Given the description of an element on the screen output the (x, y) to click on. 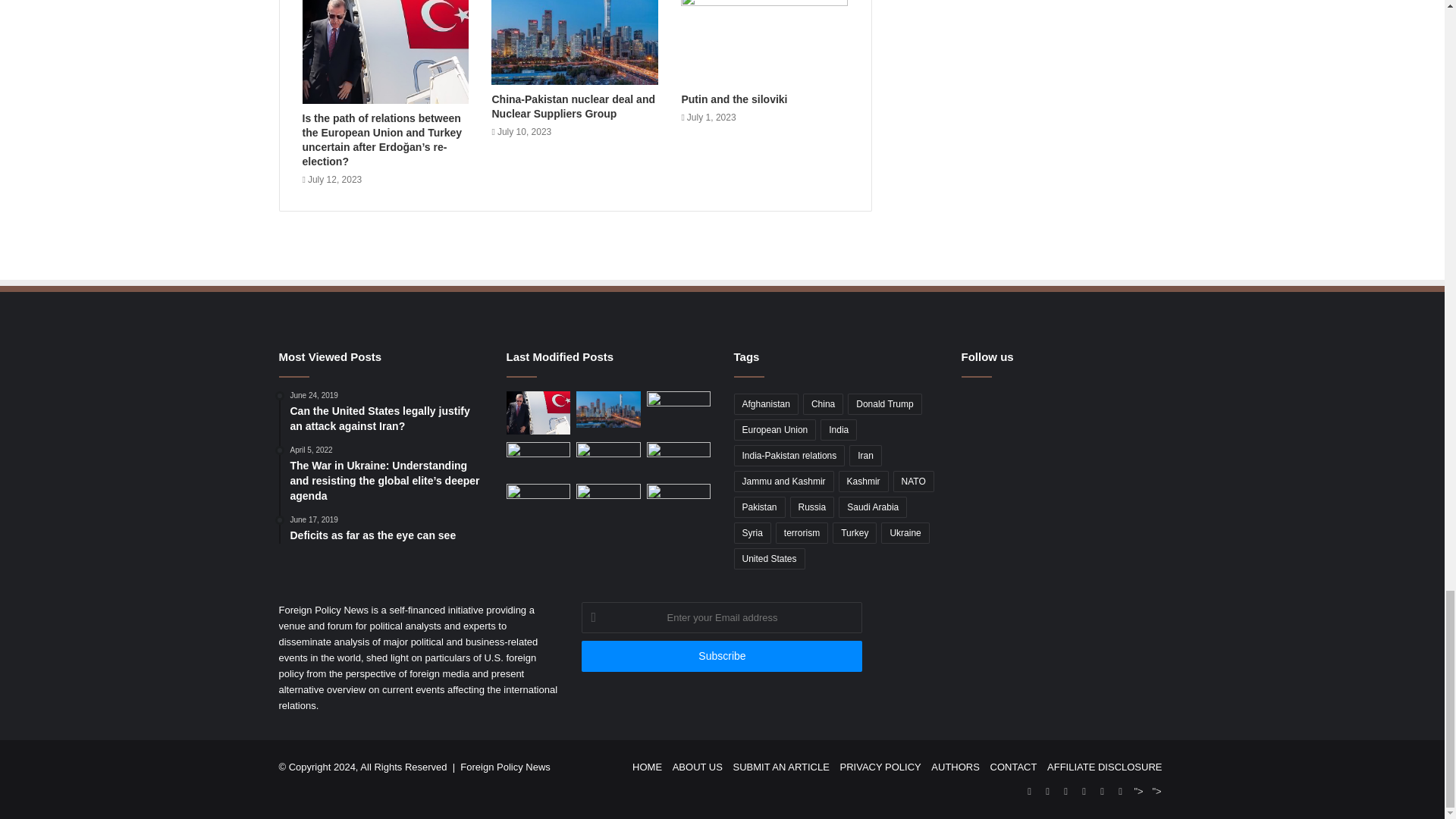
Subscribe (720, 655)
